Given the description of an element on the screen output the (x, y) to click on. 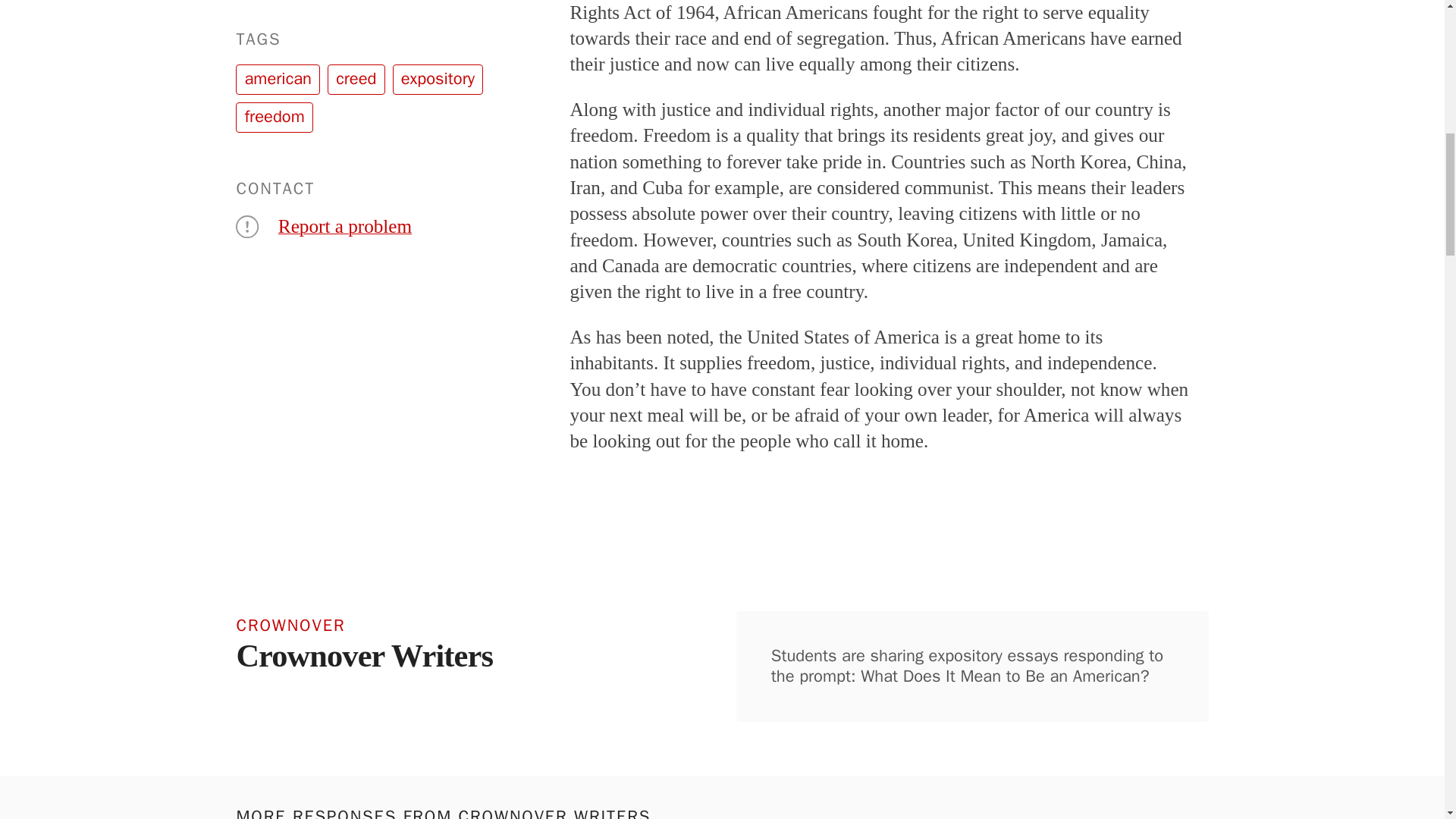
freedom (274, 117)
Report a problem (345, 226)
american (277, 79)
creed (355, 79)
expository (438, 79)
Crownover (387, 622)
